Given the description of an element on the screen output the (x, y) to click on. 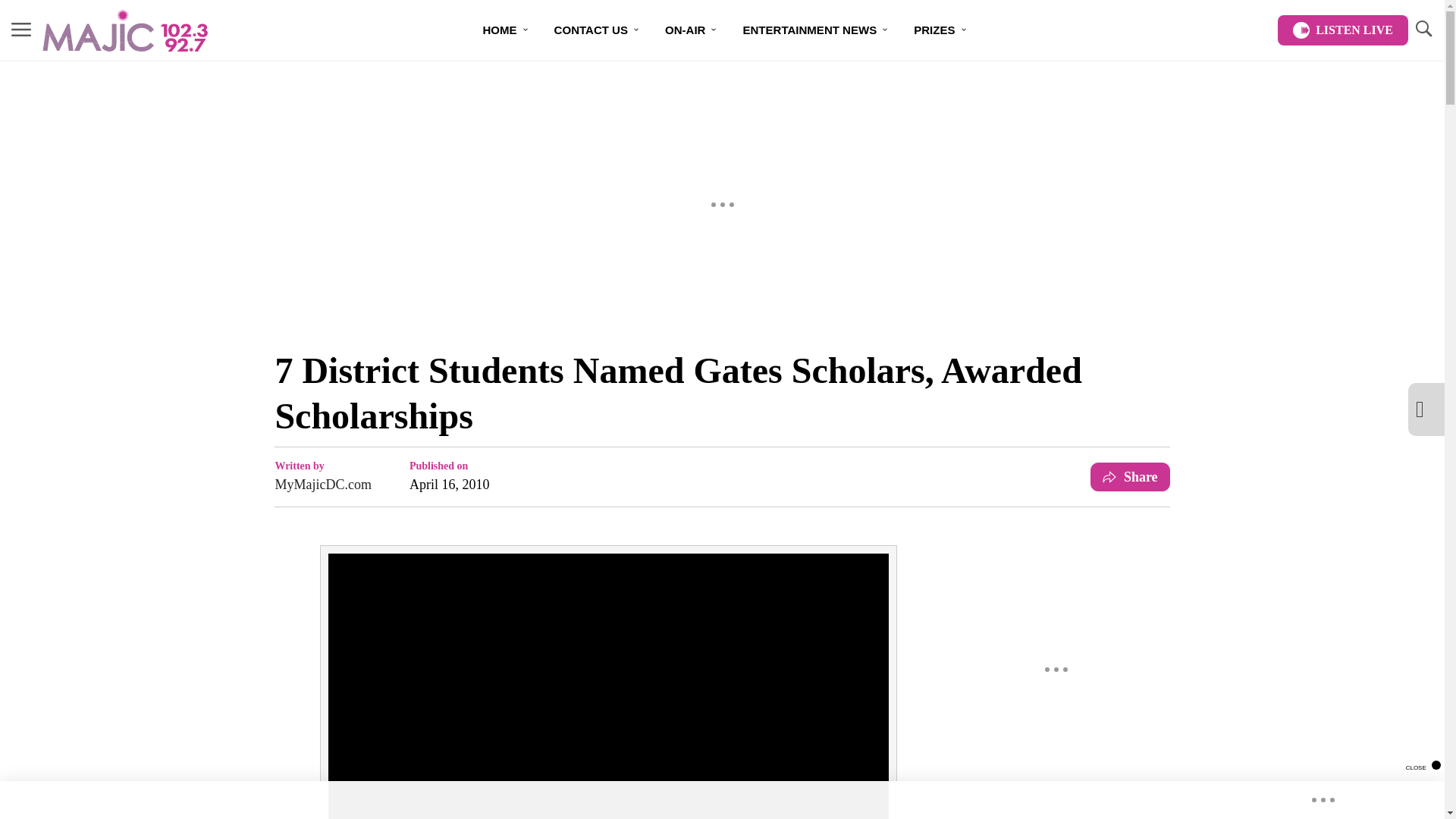
CONTACT US (596, 30)
MENU (20, 30)
HOME (505, 30)
LISTEN LIVE (1342, 30)
TOGGLE SEARCH (1422, 28)
MyMajicDC.com (323, 484)
MENU (20, 29)
TOGGLE SEARCH (1422, 30)
PRIZES (940, 30)
ENTERTAINMENT NEWS (815, 30)
